Given the description of an element on the screen output the (x, y) to click on. 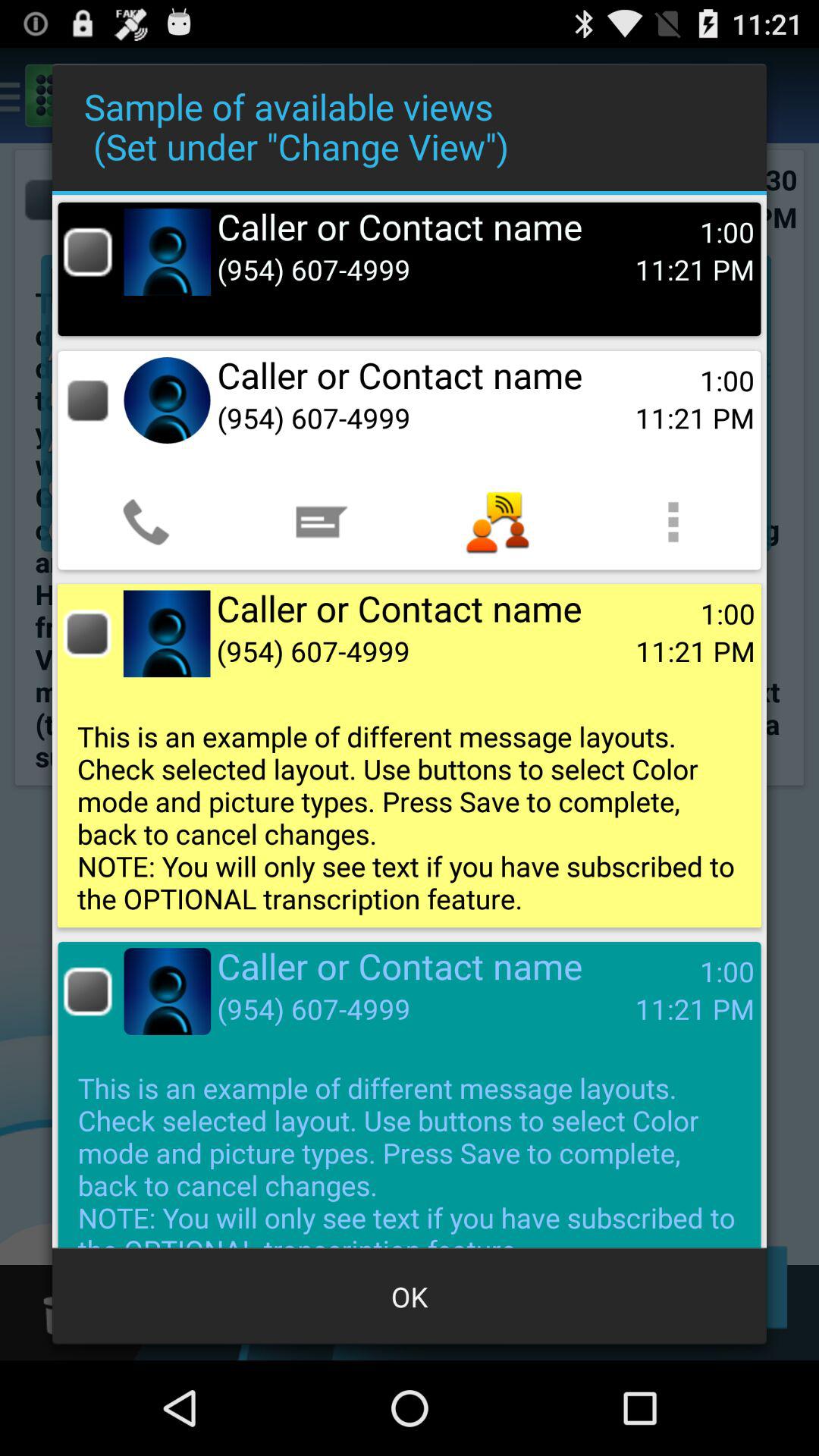
select item below the (954) 607-4999 app (321, 521)
